Given the description of an element on the screen output the (x, y) to click on. 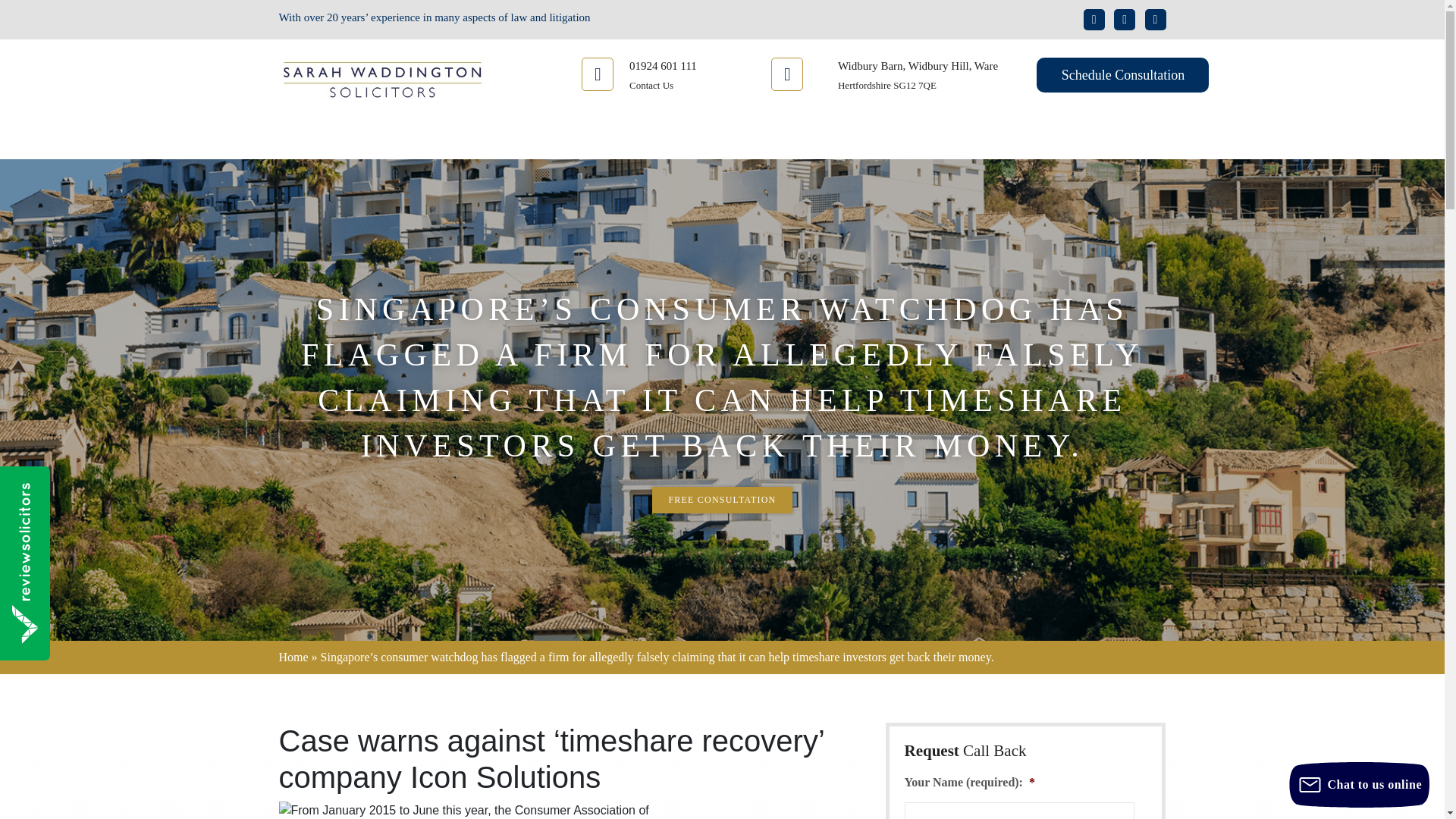
Services (589, 139)
Schedule Consultation (1122, 74)
Home (440, 139)
About Us (510, 139)
